Given the description of an element on the screen output the (x, y) to click on. 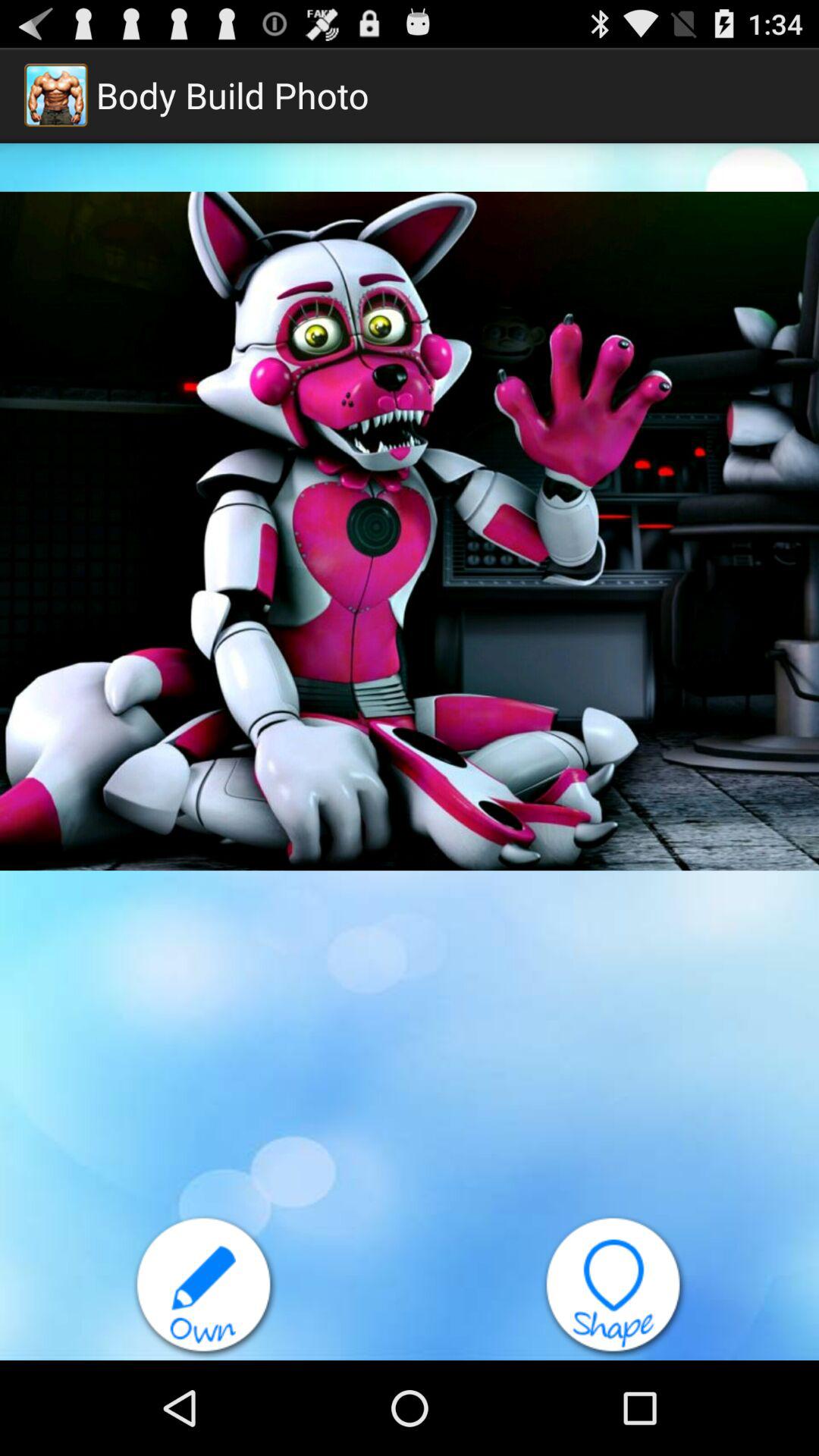
select shape (614, 1287)
